Given the description of an element on the screen output the (x, y) to click on. 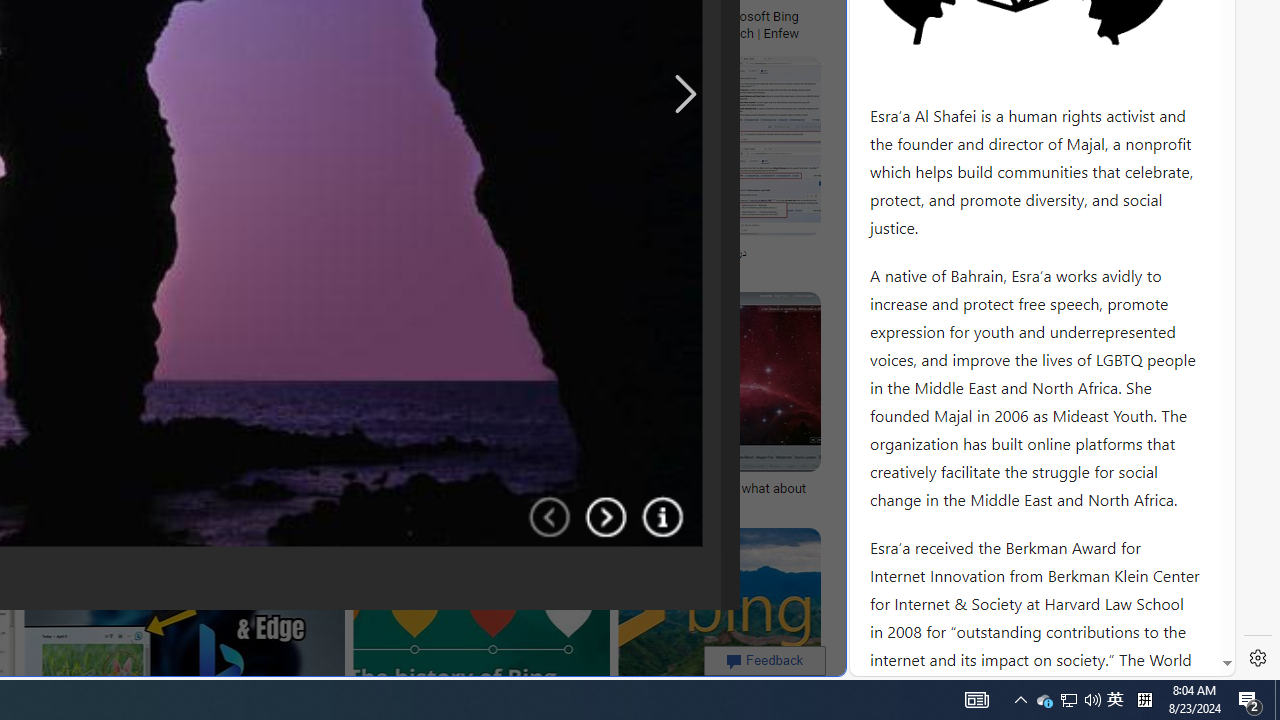
Actions for this site (1129, 306)
Bing (2009) (RARE/FAKE) - YouTube (377, 253)
MSN (687, 223)
Global web icon (888, 663)
Remove the 'News & Interests' bar from Bing | TechLife (233, 16)
